Given the description of an element on the screen output the (x, y) to click on. 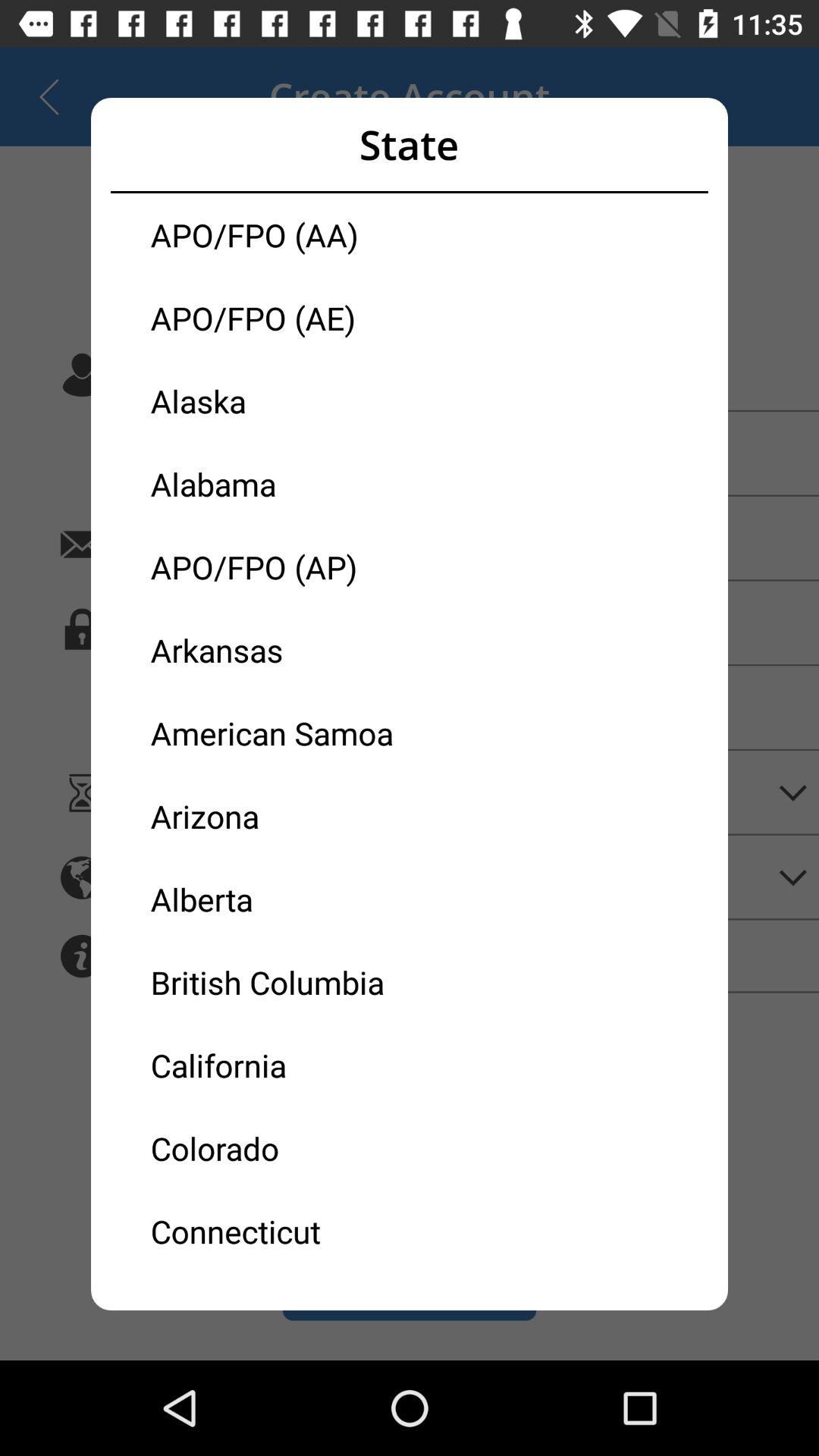
swipe until arkansas icon (279, 649)
